Given the description of an element on the screen output the (x, y) to click on. 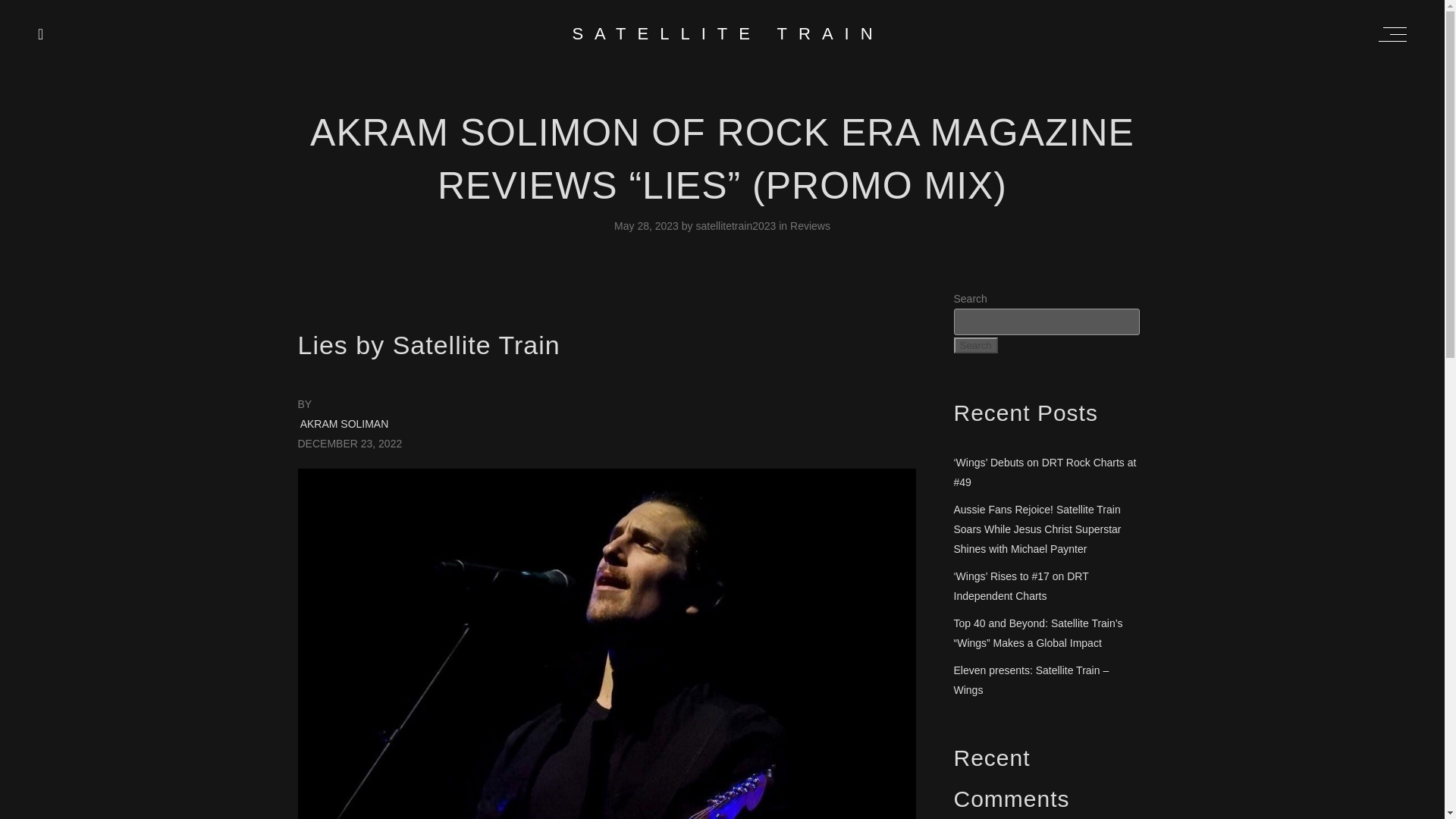
Search (975, 344)
Reviews (809, 225)
SATELLITE TRAIN (727, 33)
AKRAM SOLIMAN (343, 423)
satellitetrain2023 (736, 225)
